Given the description of an element on the screen output the (x, y) to click on. 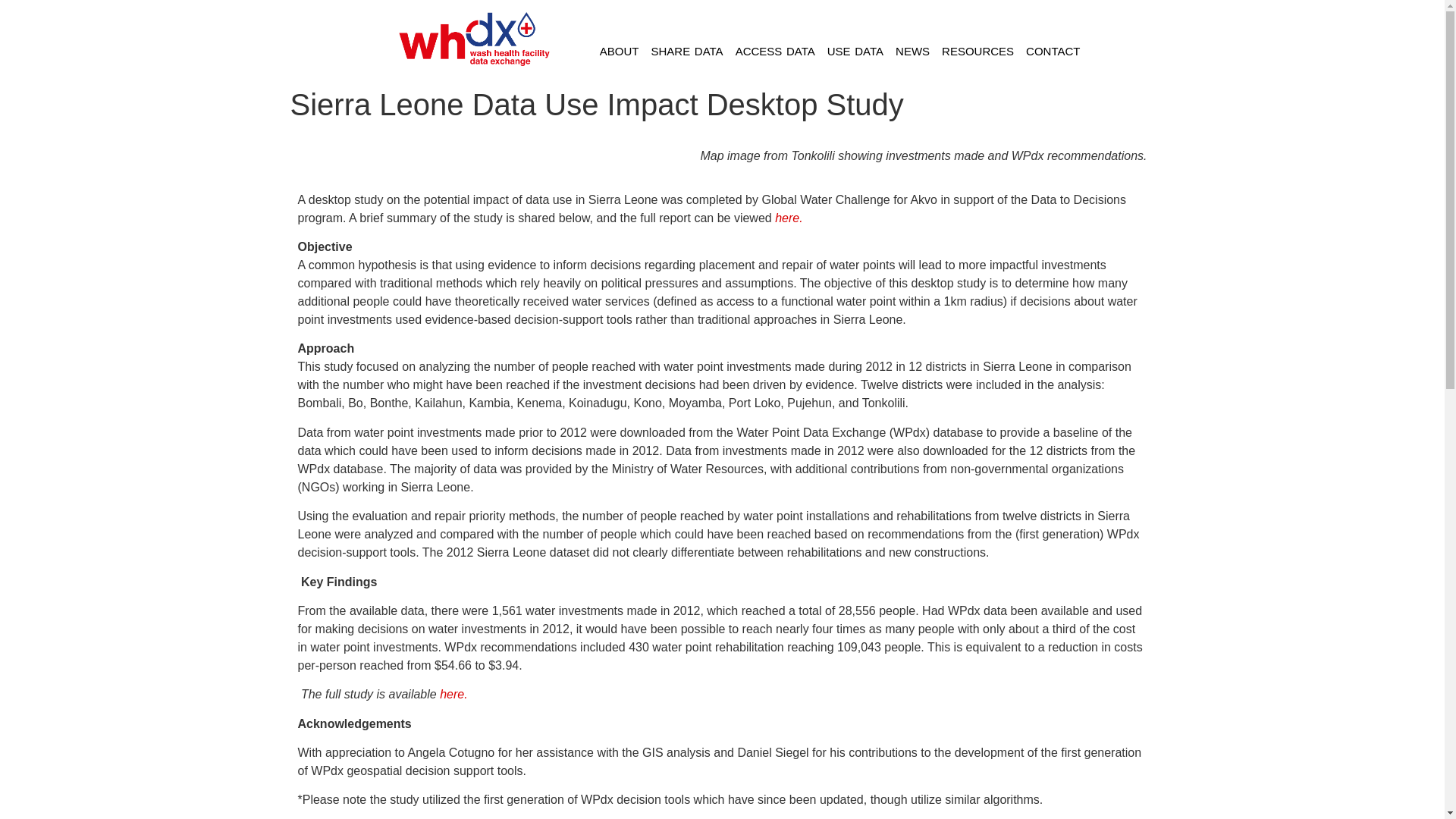
ACCESS DATA (775, 51)
here. (788, 217)
RESOURCES (978, 51)
ABOUT (619, 51)
here. (453, 694)
SHARE DATA (687, 51)
NEWS (912, 51)
USE DATA (855, 51)
CONTACT (1053, 51)
